Given the description of an element on the screen output the (x, y) to click on. 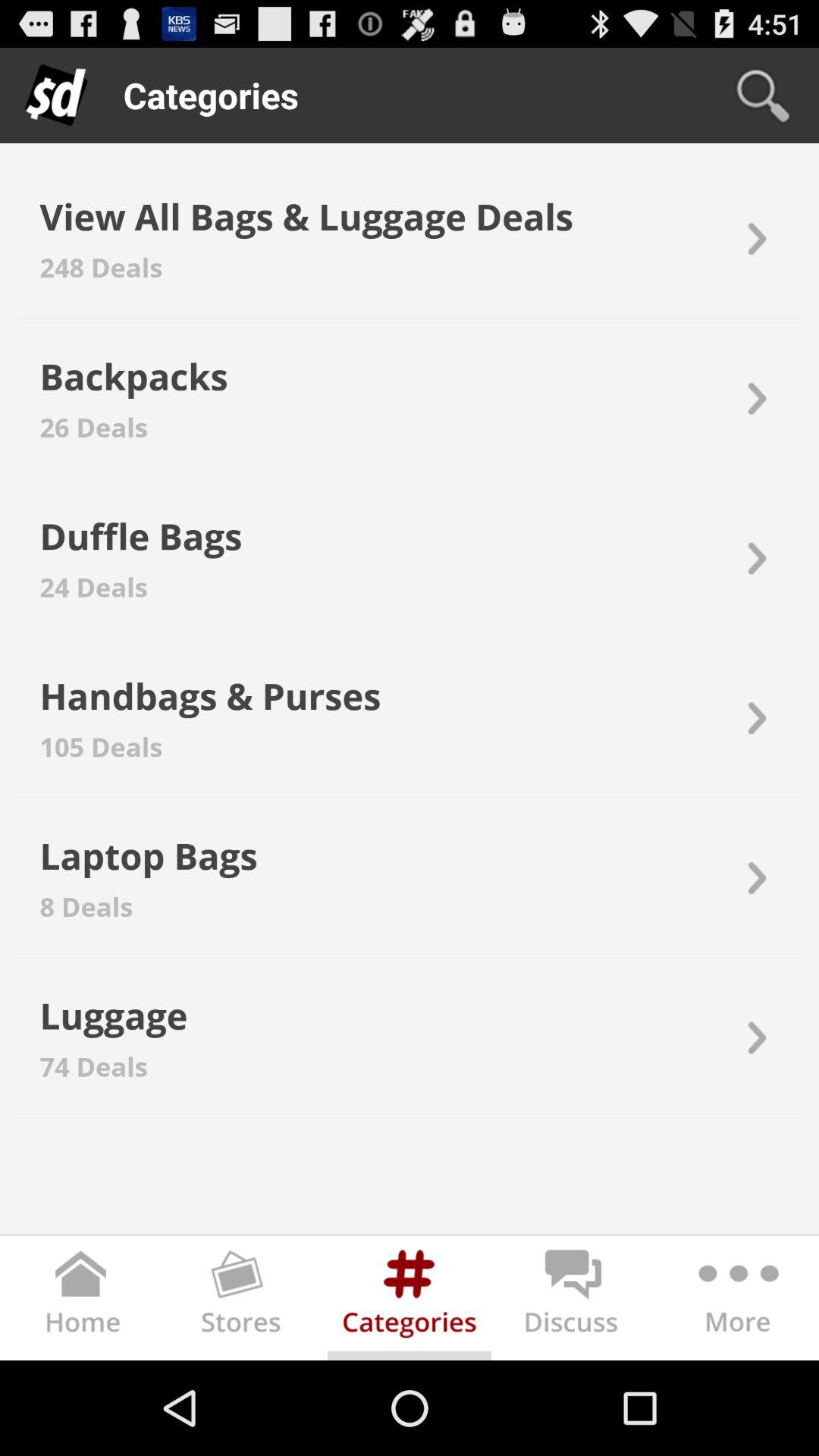
go to home page (81, 1301)
